Given the description of an element on the screen output the (x, y) to click on. 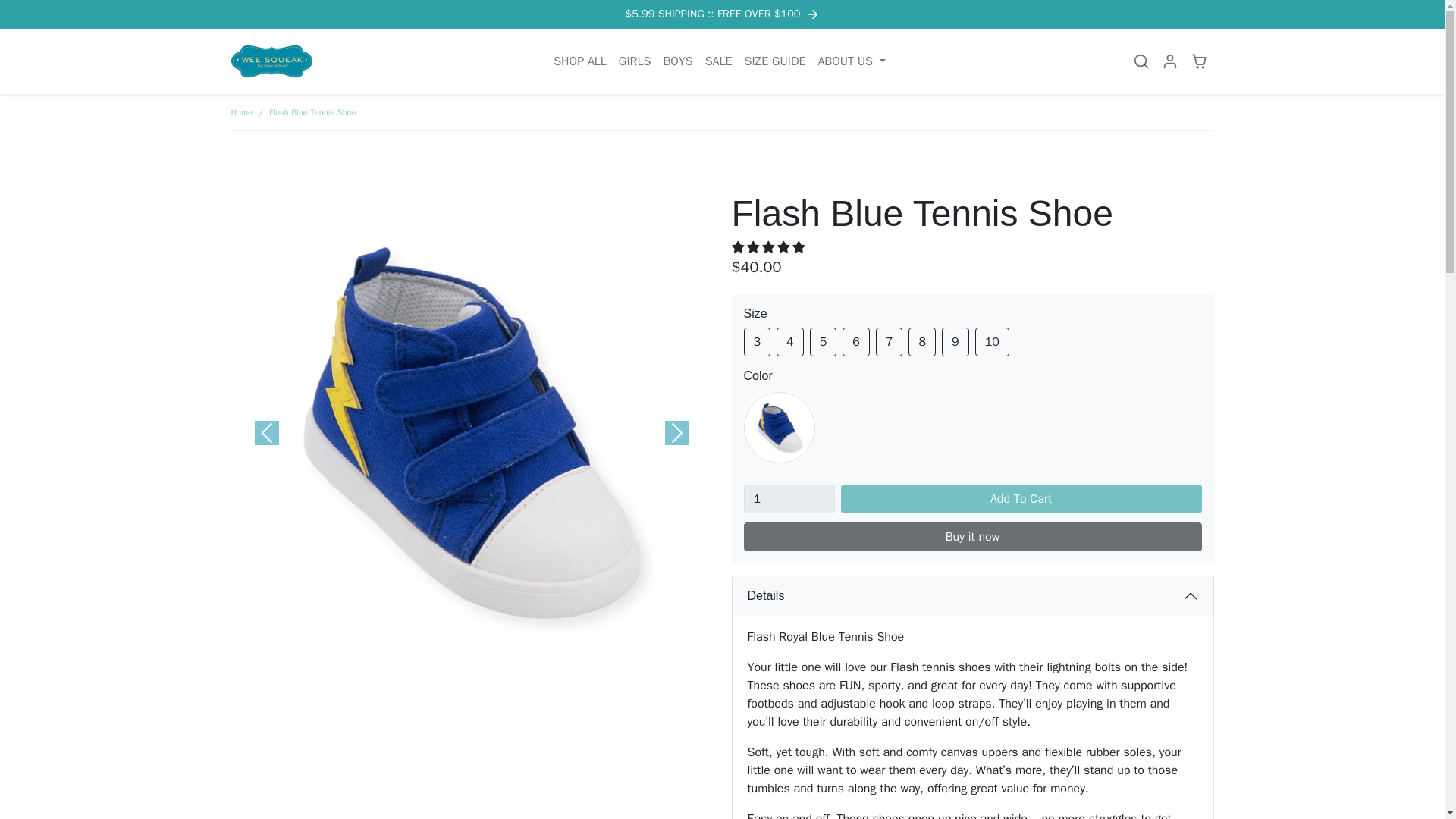
1 (788, 498)
SIZE GUIDE (775, 60)
SHOP ALL (579, 60)
ABOUT US (850, 60)
BOYS (677, 60)
Home (240, 112)
Flash Blue Tennis Shoe (312, 112)
GIRLS (635, 60)
SALE (718, 60)
